Given the description of an element on the screen output the (x, y) to click on. 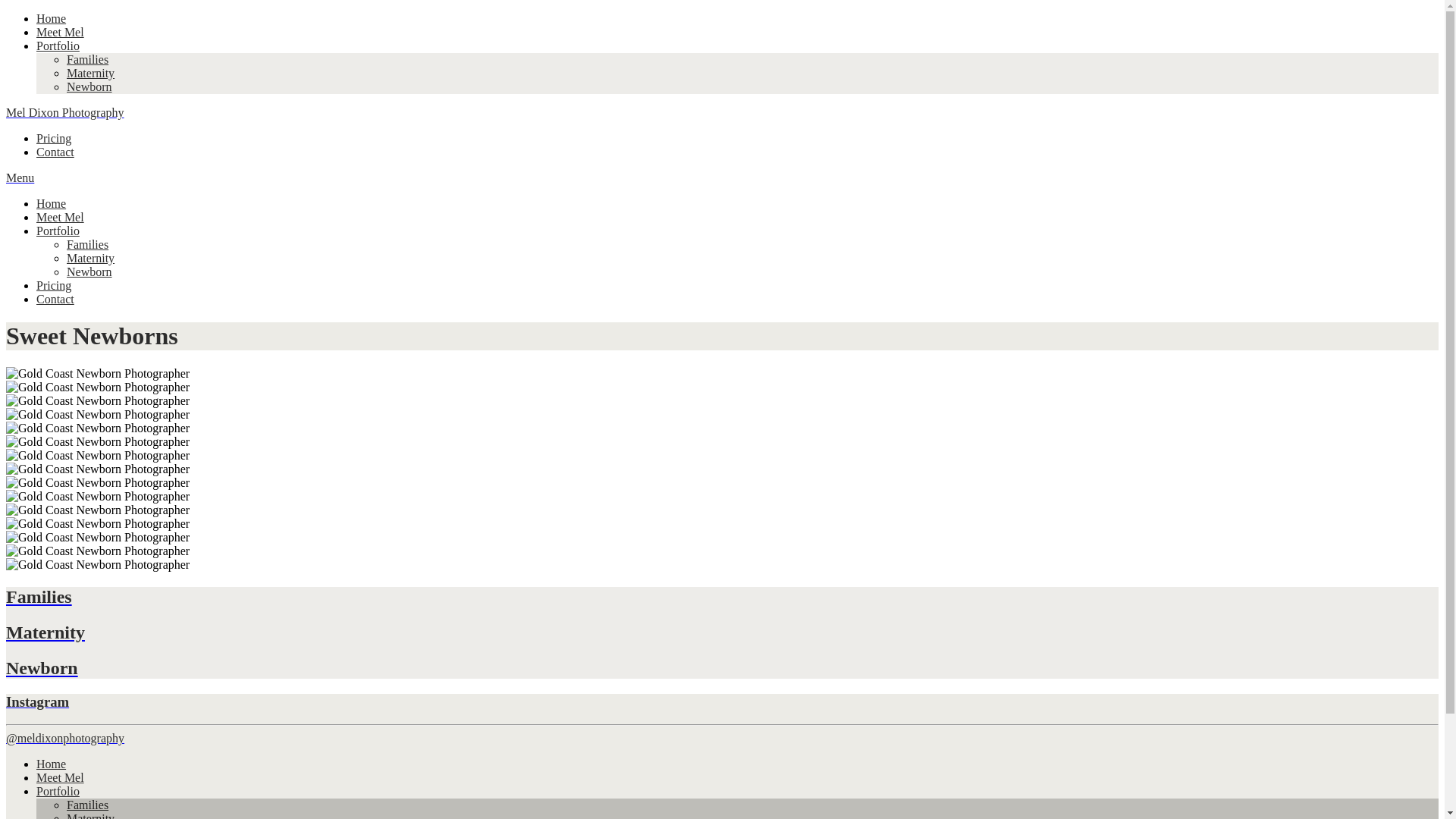
Pricing Element type: text (53, 285)
Home Element type: text (50, 18)
Meet Mel Element type: text (60, 216)
Families Element type: text (722, 596)
Newborn Element type: text (89, 271)
Contact Element type: text (55, 298)
Newborn Element type: text (722, 668)
Meet Mel Element type: text (60, 777)
Contact Element type: text (55, 151)
Maternity Element type: text (90, 72)
Maternity Element type: text (90, 257)
Pricing Element type: text (53, 137)
Home Element type: text (50, 763)
Maternity Element type: text (722, 632)
Home Element type: text (50, 203)
Families Element type: text (87, 244)
Menu Element type: text (20, 177)
Mel Dixon Photography Element type: text (65, 112)
Families Element type: text (87, 804)
Families Element type: text (87, 59)
Portfolio Element type: text (57, 230)
Portfolio Element type: text (57, 790)
Meet Mel Element type: text (60, 31)
Newborn Element type: text (89, 86)
Instagram
@meldixonphotography Element type: text (722, 719)
Portfolio Element type: text (57, 45)
